Given the description of an element on the screen output the (x, y) to click on. 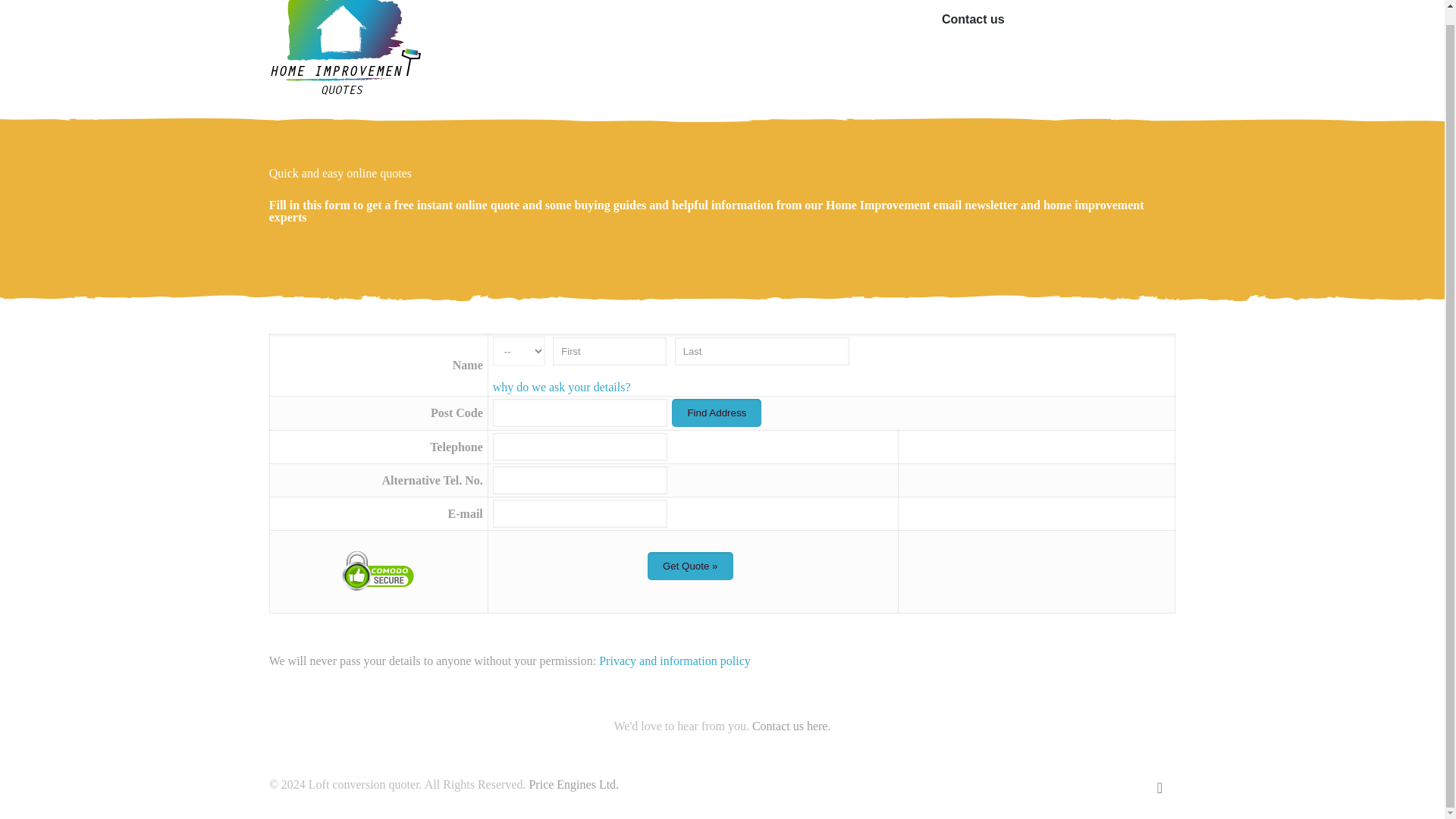
Contact us (973, 27)
Privacy and information policy (674, 660)
why do we ask your details? (561, 386)
Contact us here. (791, 725)
Price Engines Ltd. (573, 784)
Find Address (716, 412)
Loft conversion quoter (344, 54)
